Given the description of an element on the screen output the (x, y) to click on. 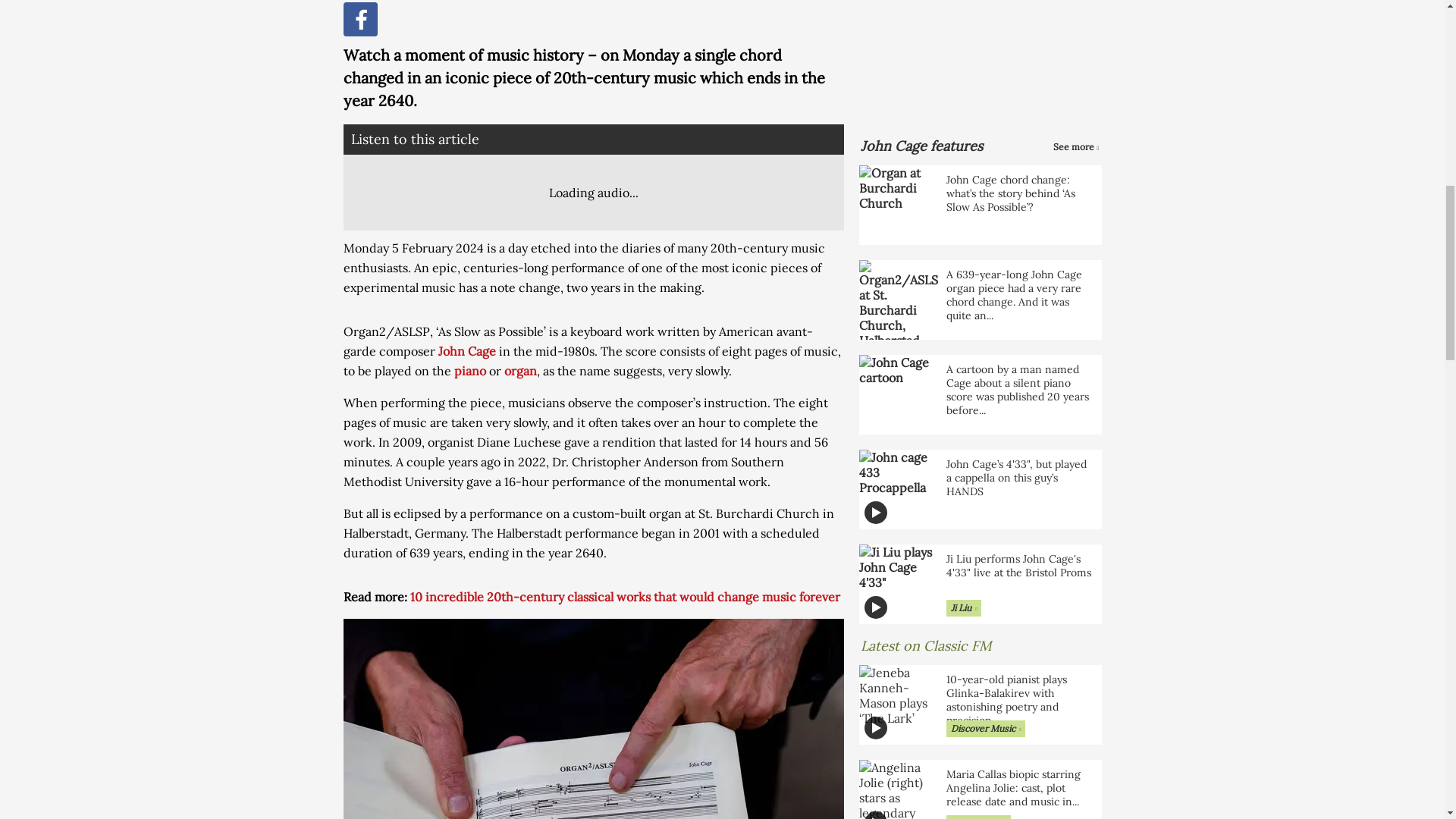
John Cage (467, 350)
piano (468, 370)
organ (519, 370)
